Given the description of an element on the screen output the (x, y) to click on. 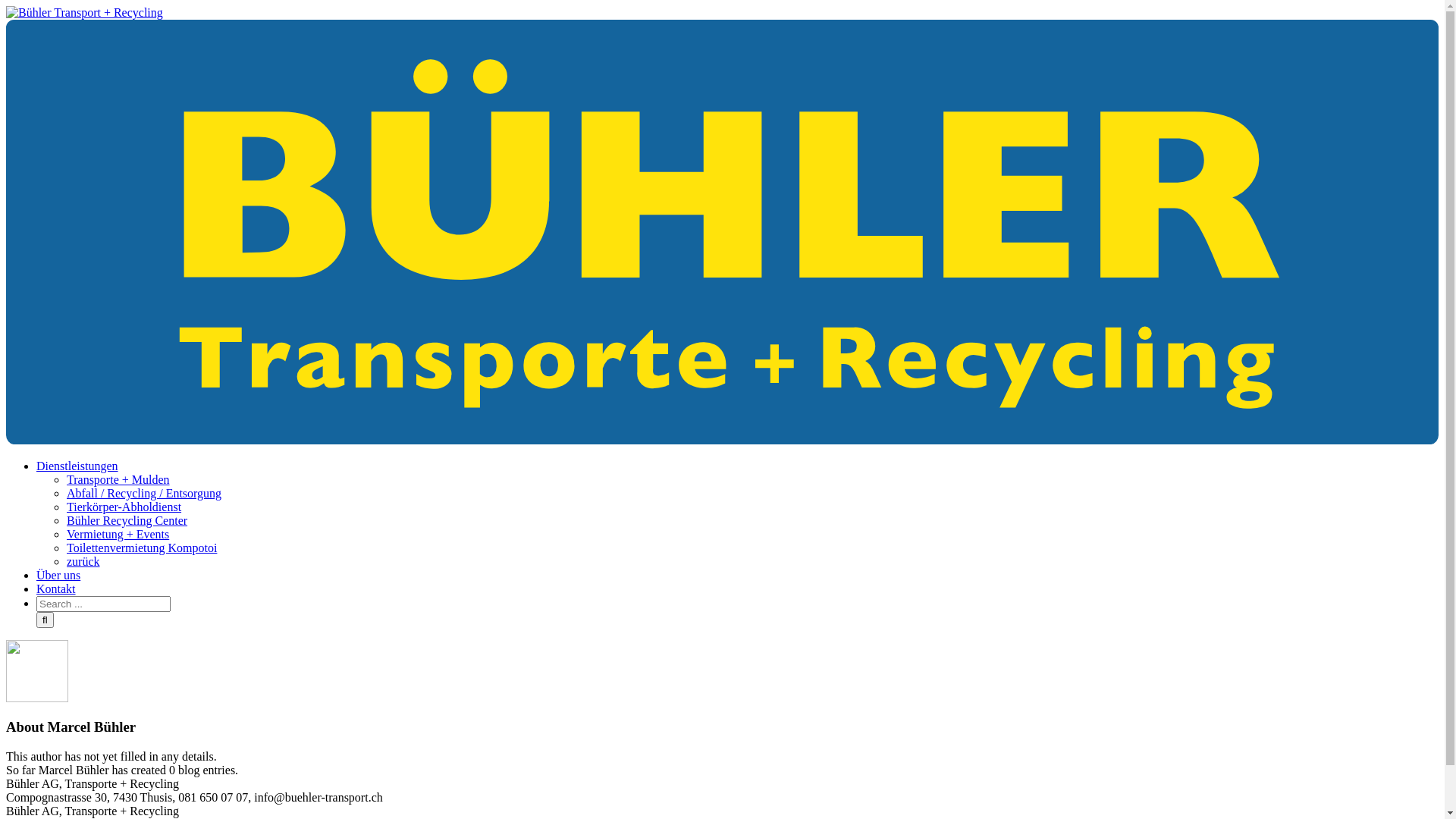
Transporte + Mulden Element type: text (117, 479)
Kontakt Element type: text (55, 588)
Abfall / Recycling / Entsorgung Element type: text (143, 492)
Toilettenvermietung Kompotoi Element type: text (141, 547)
Dienstleistungen Element type: text (77, 465)
Vermietung + Events Element type: text (117, 533)
